Given the description of an element on the screen output the (x, y) to click on. 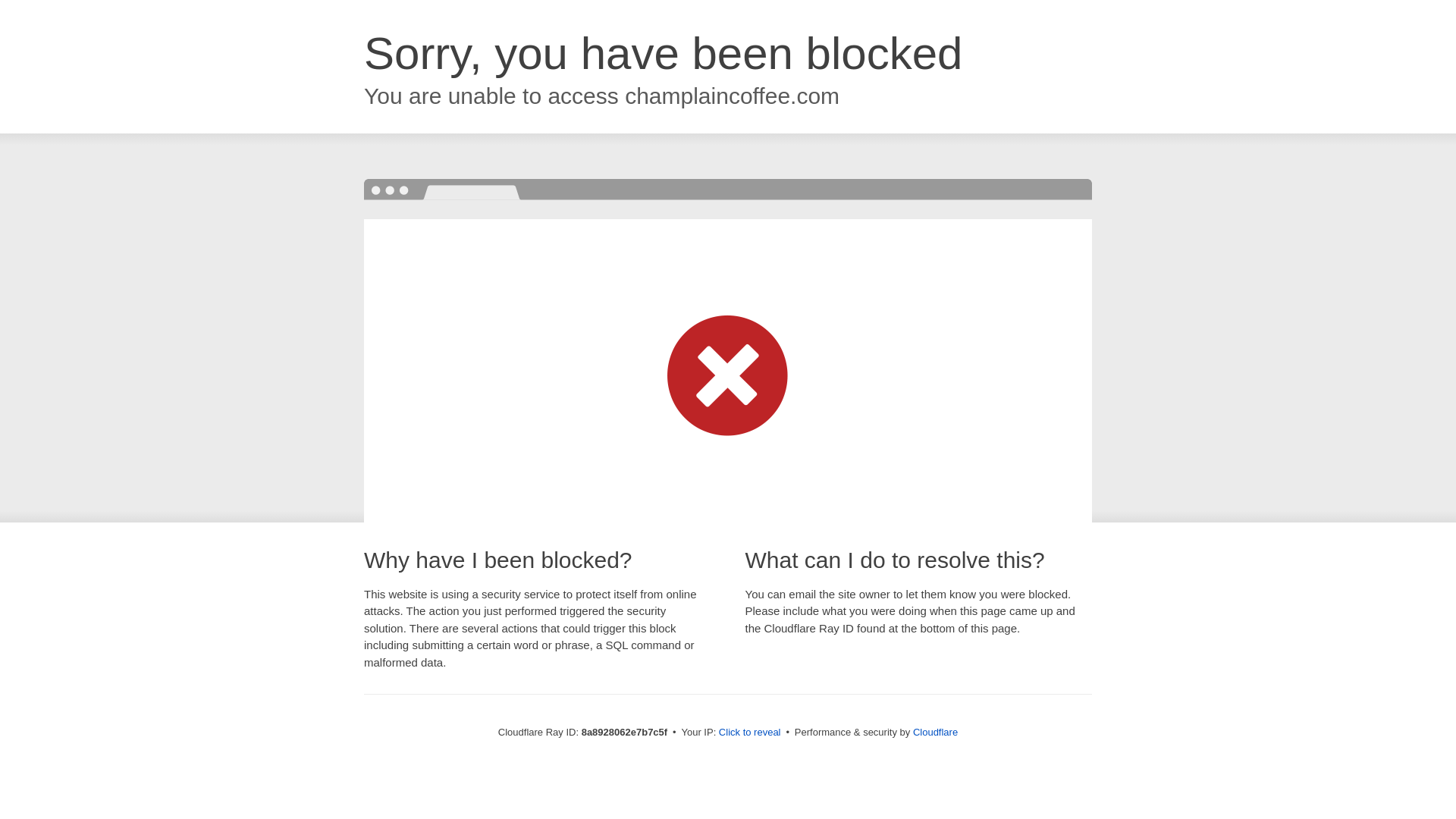
Click to reveal (749, 732)
Cloudflare (935, 731)
